Given the description of an element on the screen output the (x, y) to click on. 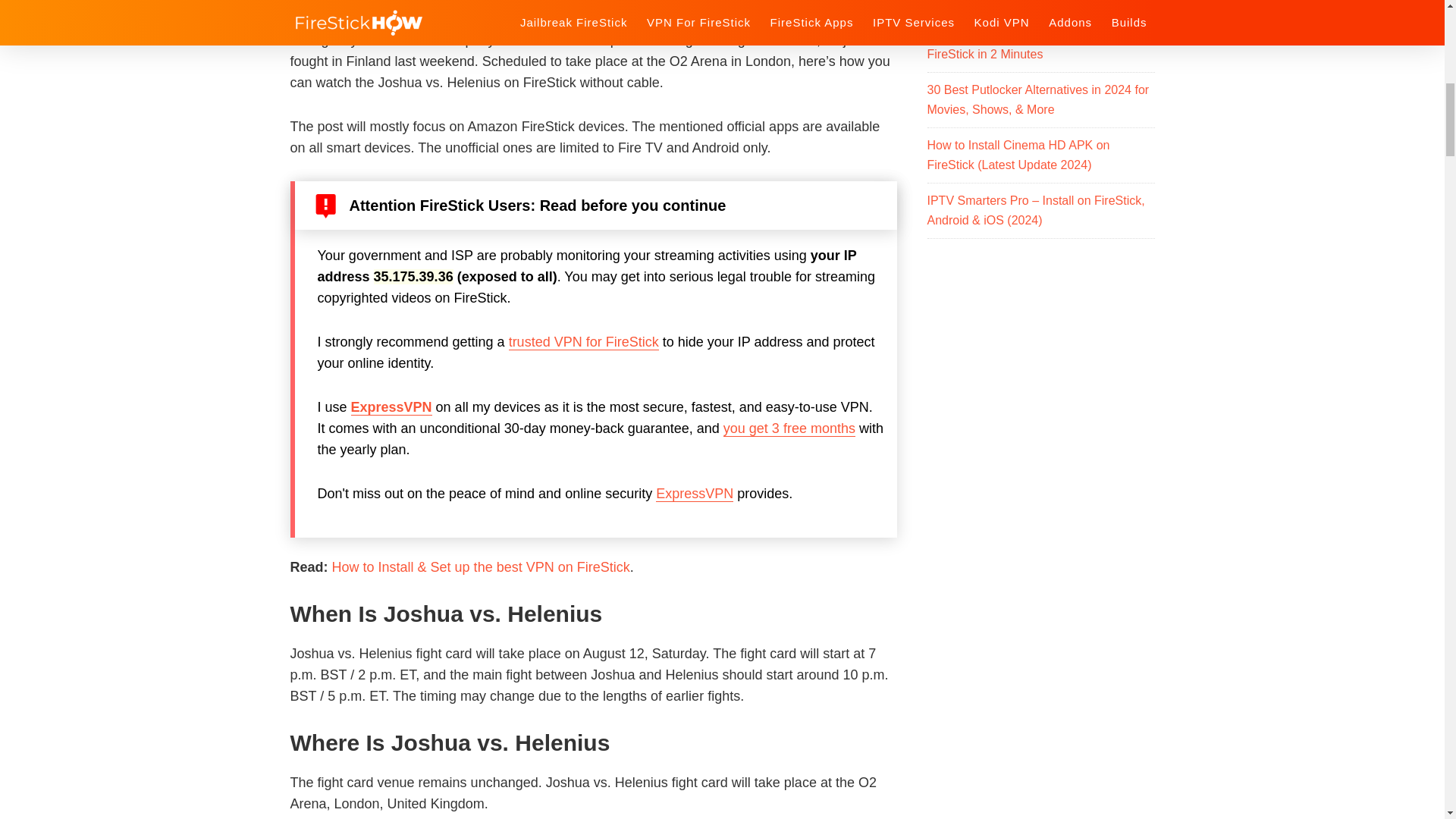
you get 3 free months (789, 428)
ExpressVPN (391, 407)
ExpressVPN (694, 494)
trusted VPN for FireStick (583, 342)
